Given the description of an element on the screen output the (x, y) to click on. 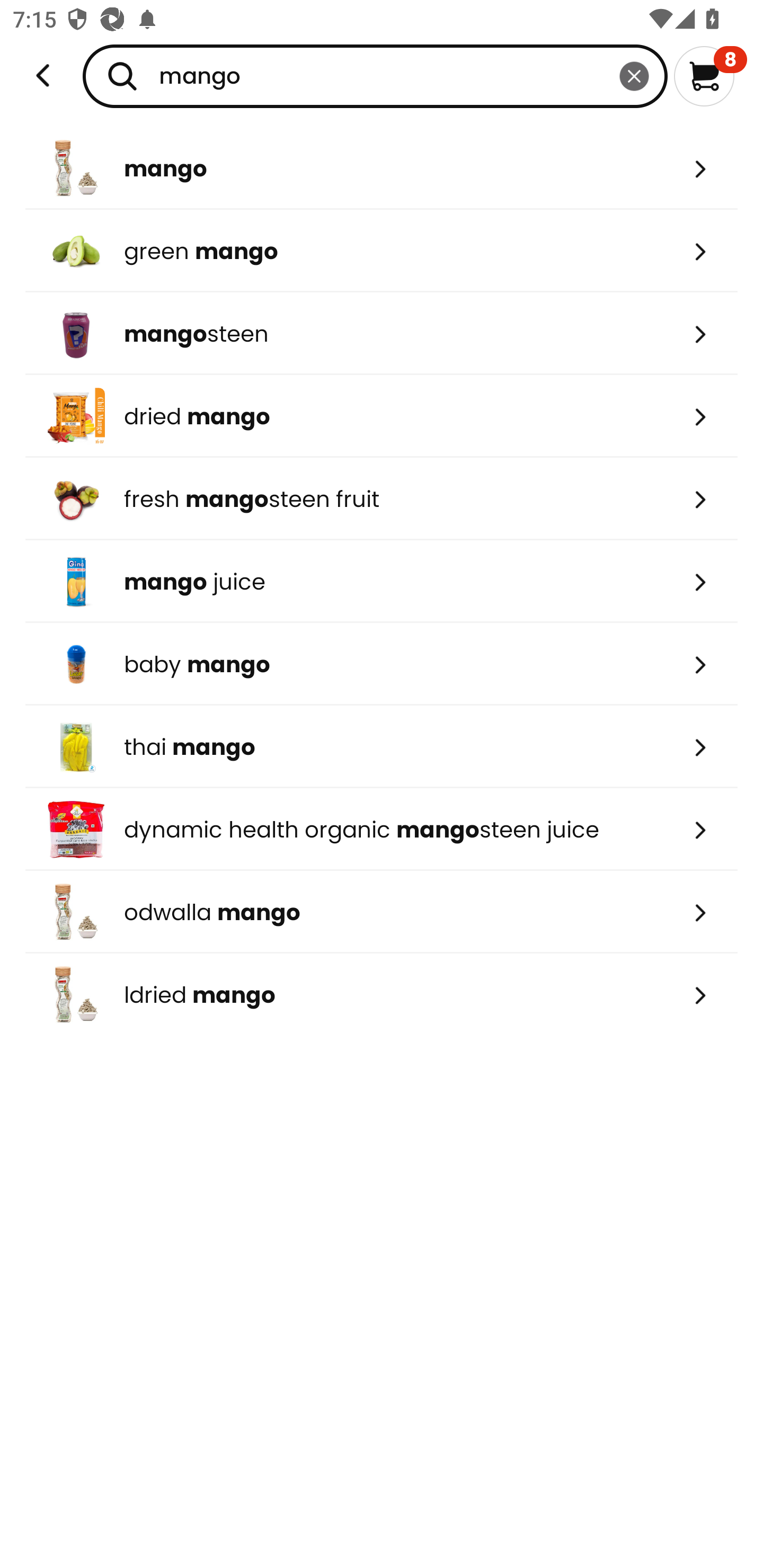
mango (374, 75)
8 (709, 75)
Weee! (42, 76)
mango (381, 168)
green mango (381, 250)
mangosteen (381, 332)
dried mango (381, 415)
fresh mangosteen fruit (381, 498)
mango juice (381, 581)
baby mango (381, 663)
thai mango (381, 746)
dynamic health organic mangosteen juice (381, 829)
odwalla mango (381, 911)
ldried mango (381, 994)
